Given the description of an element on the screen output the (x, y) to click on. 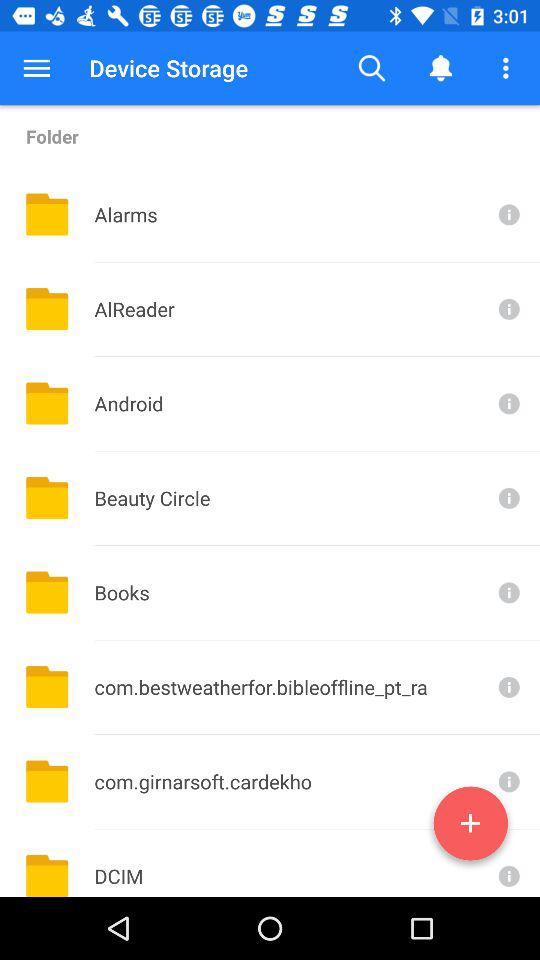
button for folder information (507, 863)
